Given the description of an element on the screen output the (x, y) to click on. 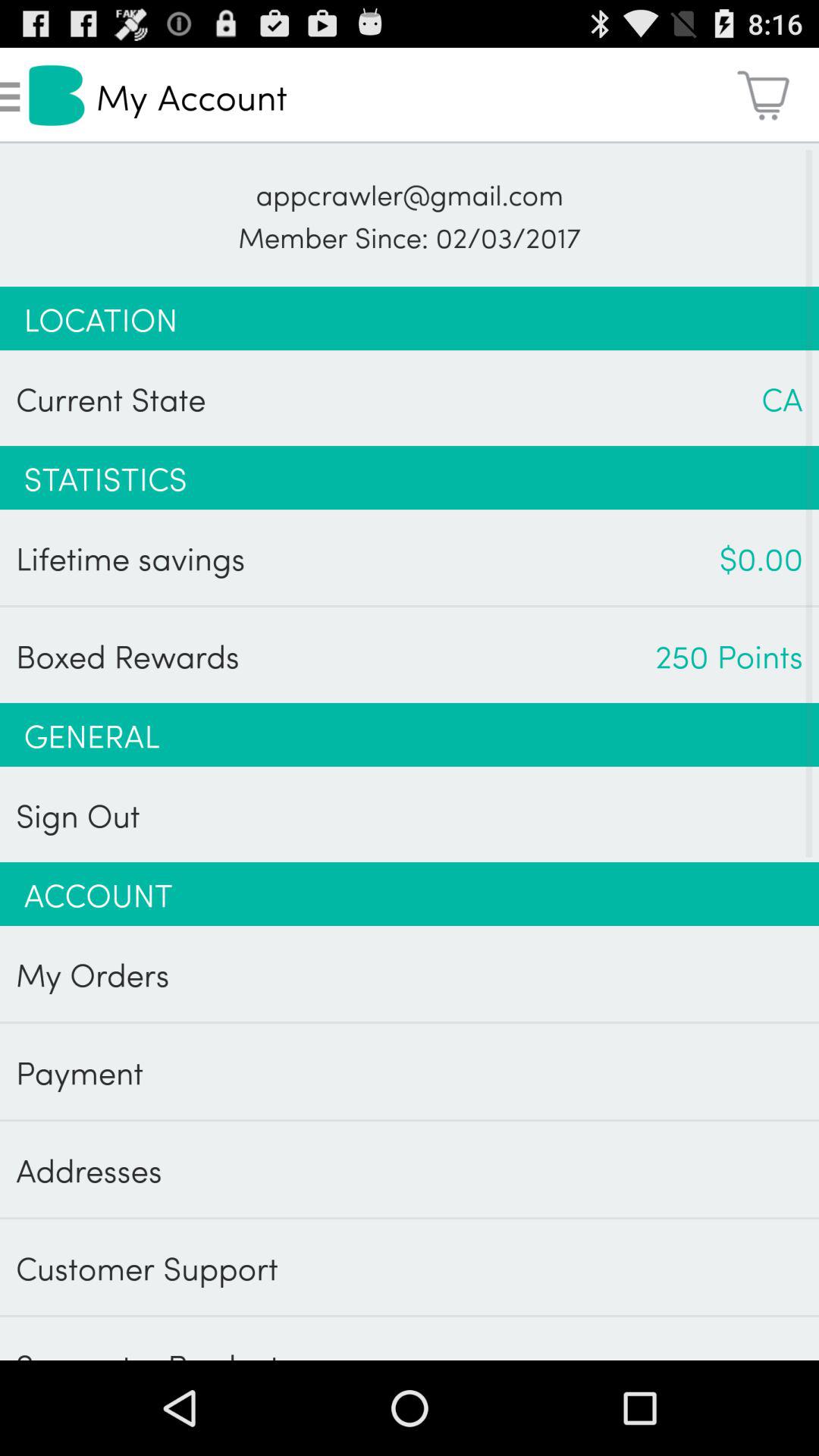
tap the app below the boxed rewards (409, 734)
